Given the description of an element on the screen output the (x, y) to click on. 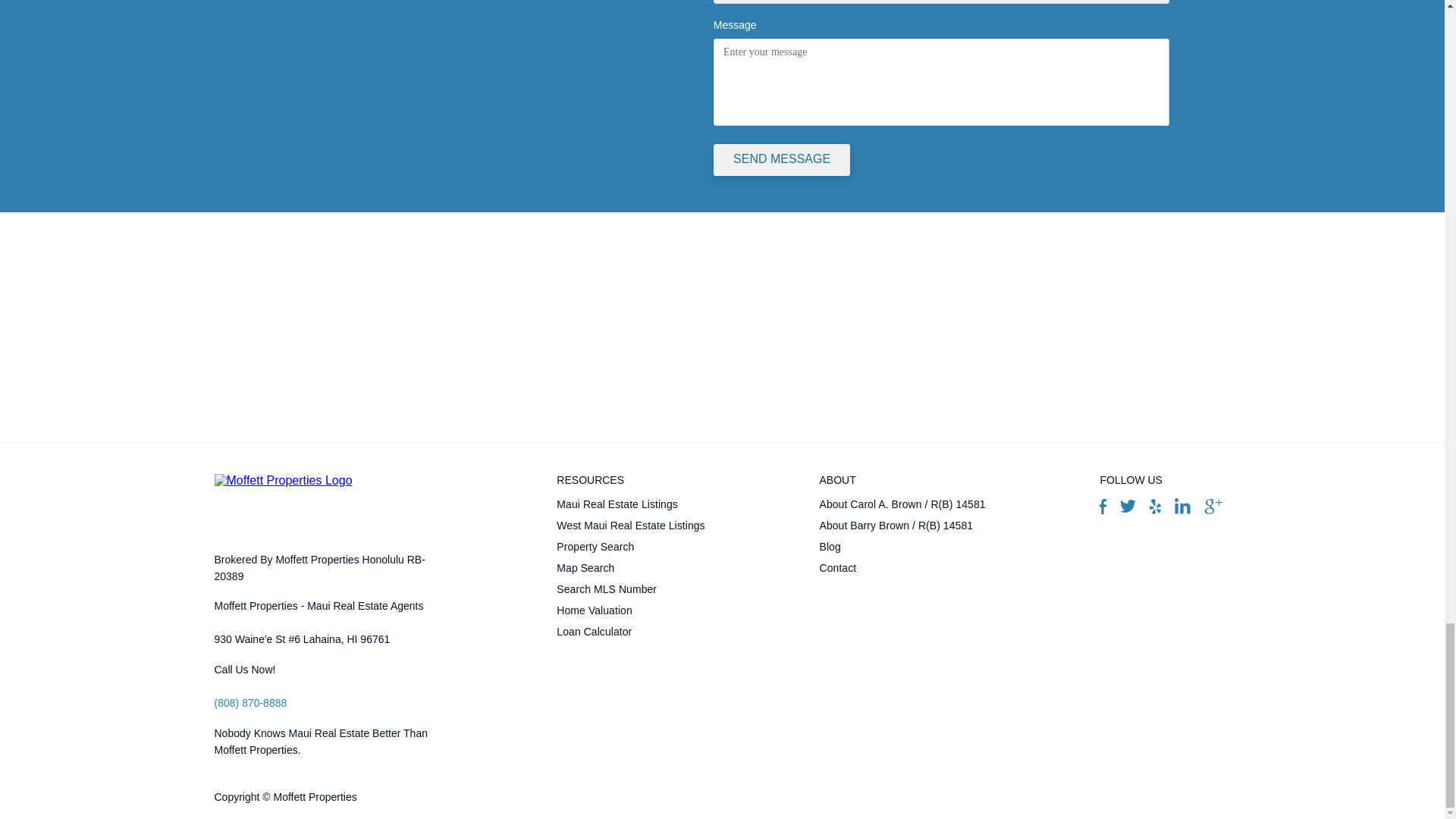
Property Search (630, 546)
send message (781, 160)
send message (781, 160)
Search MLS Number (630, 588)
West Maui Real Estate Listings (630, 525)
Home Valuation (630, 609)
Map Search (630, 567)
Loan Calculator (630, 631)
Maui Real Estate Listings (630, 504)
